Given the description of an element on the screen output the (x, y) to click on. 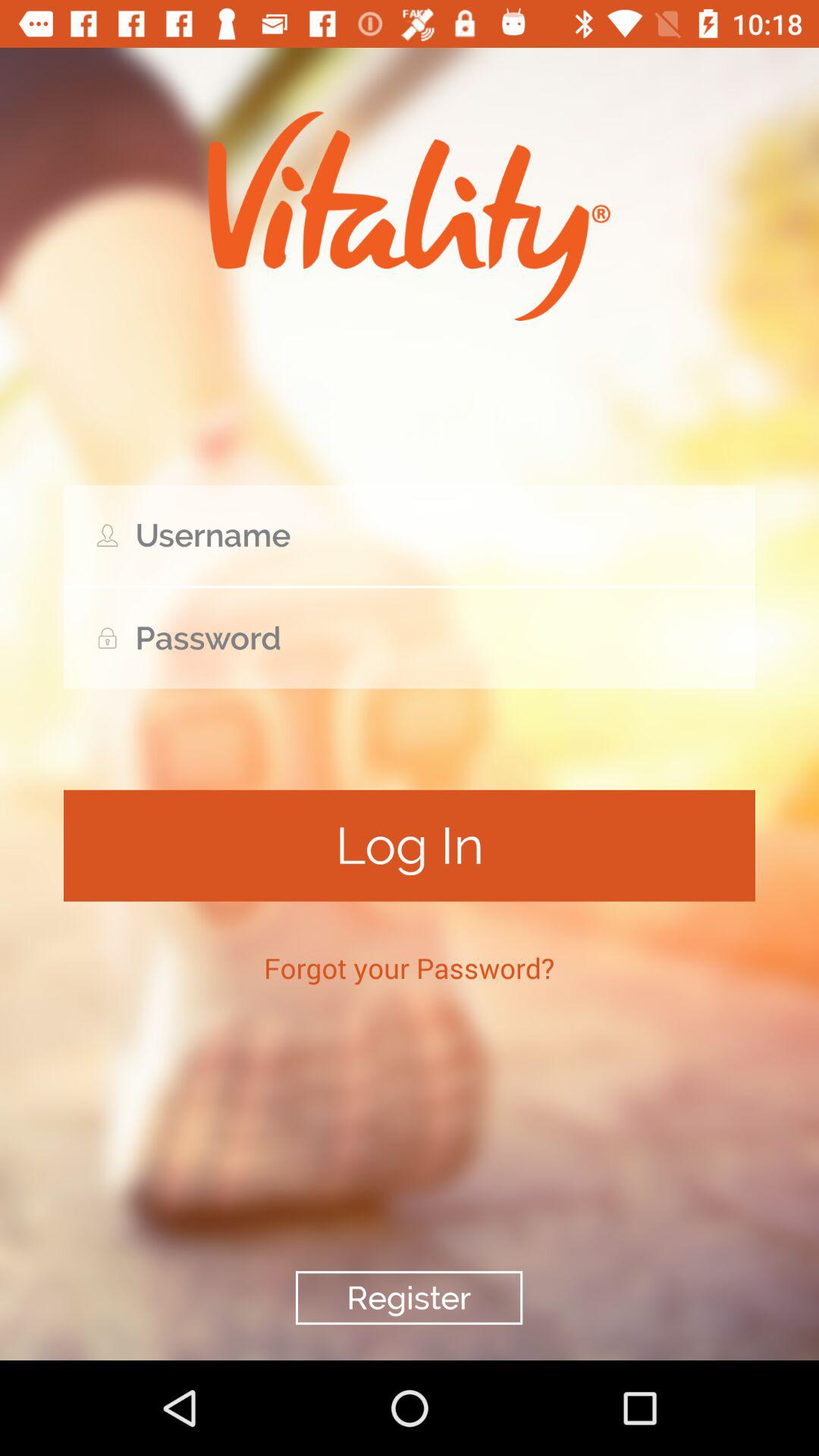
launch register icon (408, 1297)
